Given the description of an element on the screen output the (x, y) to click on. 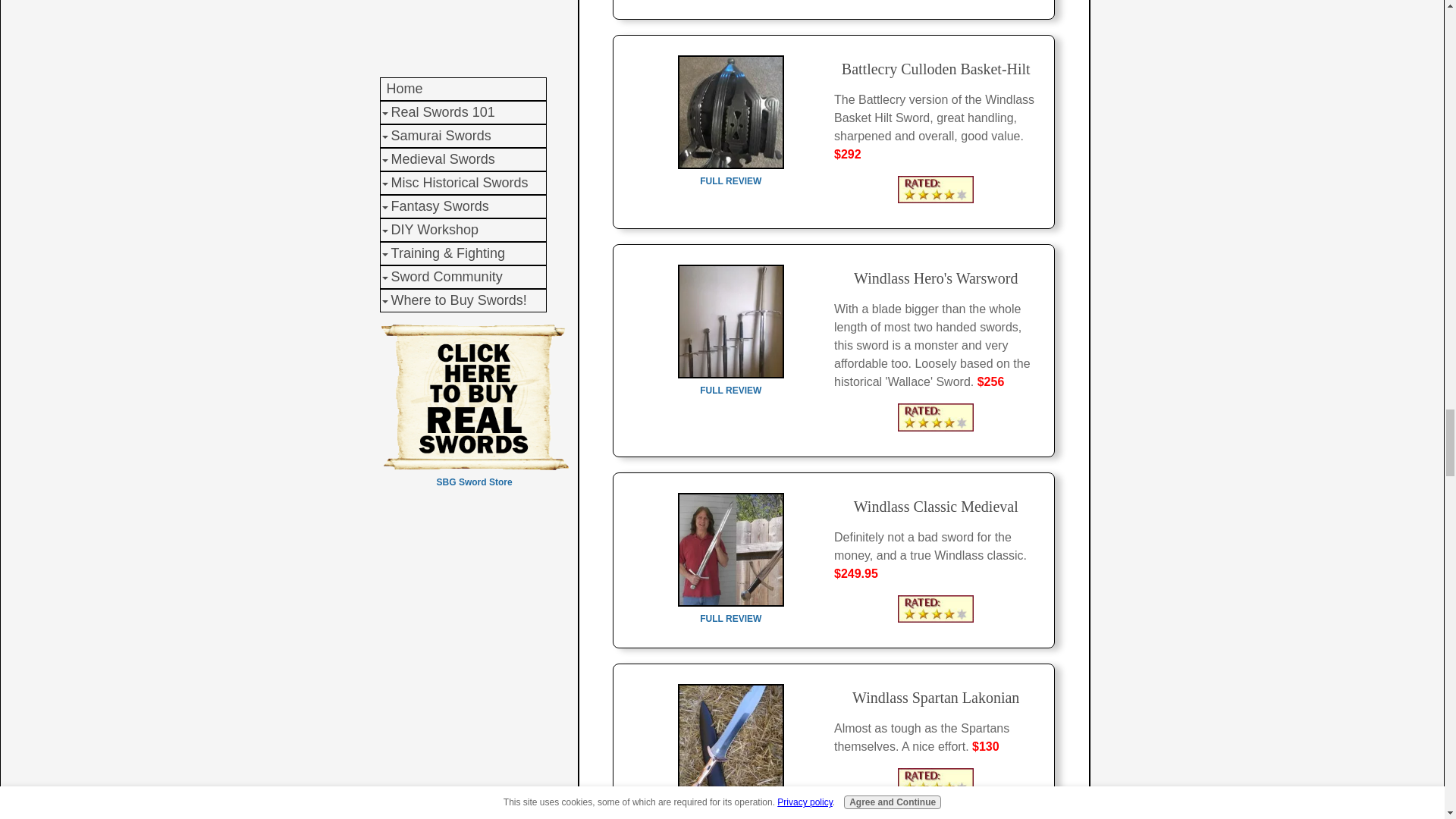
Go to Windlass Classic Medieval Sword Review (730, 610)
Go to Spartan Swords - Size Doesn't Matter (730, 802)
Go to William Wallace Sword Review (730, 382)
Go to Battlecry Culloden Basket Hilt Sword (730, 173)
